Given the description of an element on the screen output the (x, y) to click on. 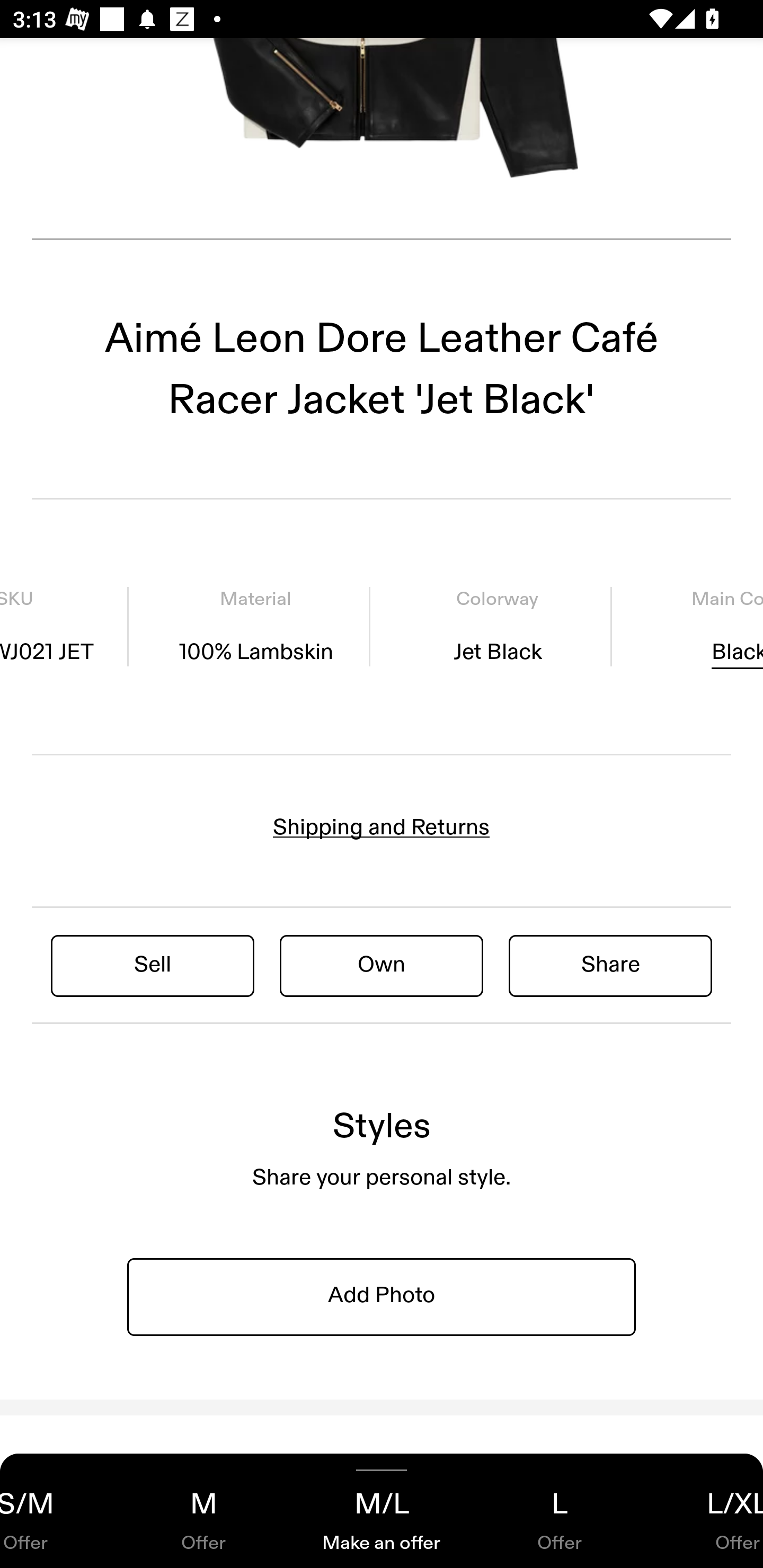
Material 100% Lambskin (255, 626)
Colorway Jet Black (497, 626)
Shipping and Returns (381, 827)
Sell (152, 964)
Own (381, 964)
Share (609, 964)
Add Photo (381, 1295)
S/M Offer (57, 1510)
M Offer (203, 1510)
M/L Make an offer (381, 1510)
L Offer (559, 1510)
L/XL Offer (705, 1510)
